Given the description of an element on the screen output the (x, y) to click on. 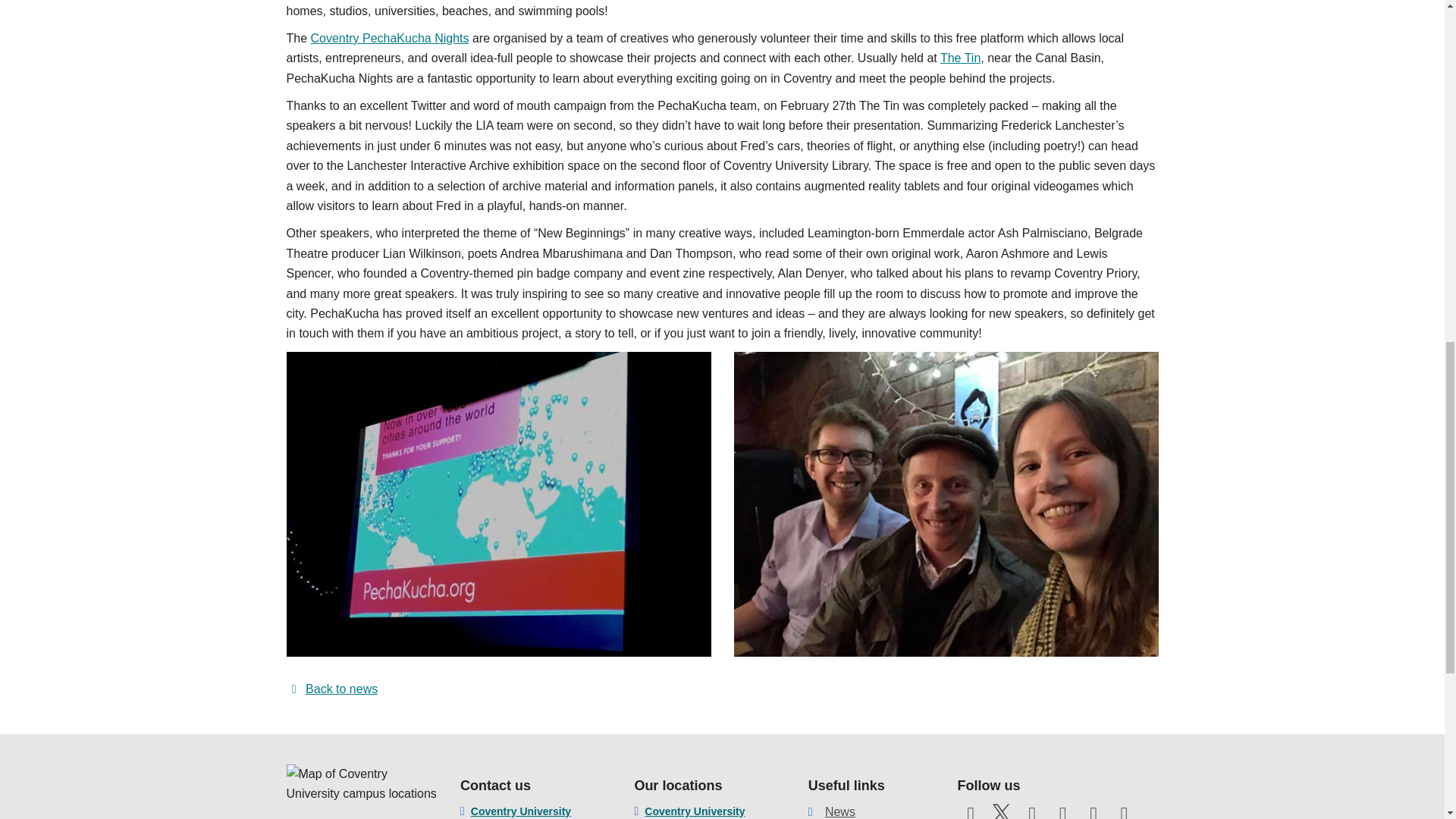
Follow us on Instagram (1063, 811)
Subscribe to our YouTube Channel (1031, 811)
Like us on Facebook (970, 811)
News (840, 811)
Connect with us on Linkedin (1093, 811)
Add us on Snapchat (1124, 811)
